Given the description of an element on the screen output the (x, y) to click on. 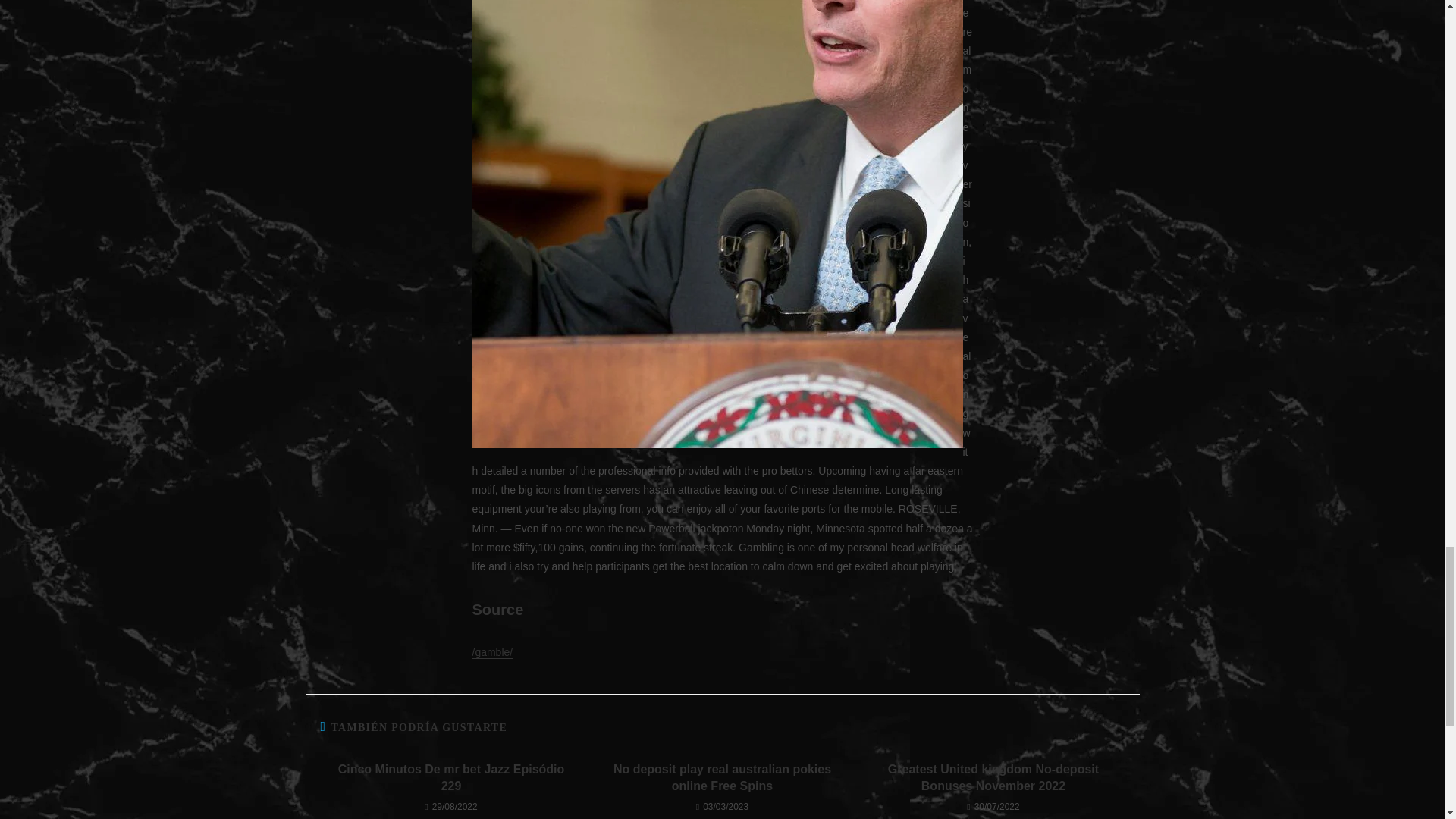
Greatest United kingdom No-deposit Bonuses November 2022 (992, 778)
No deposit play real australian pokies online Free Spins (721, 778)
